Given the description of an element on the screen output the (x, y) to click on. 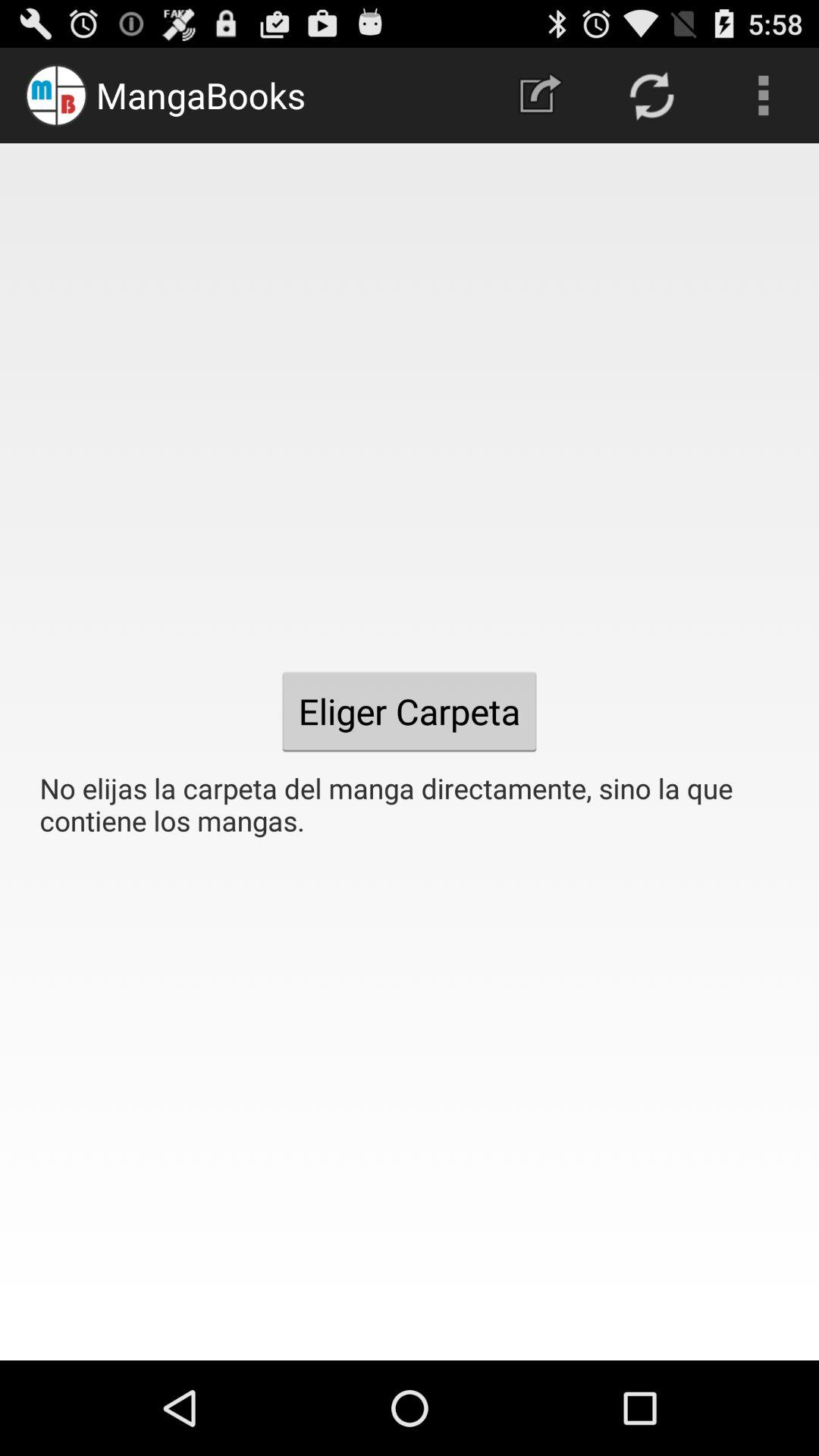
tap item above the no elijas la app (763, 95)
